Given the description of an element on the screen output the (x, y) to click on. 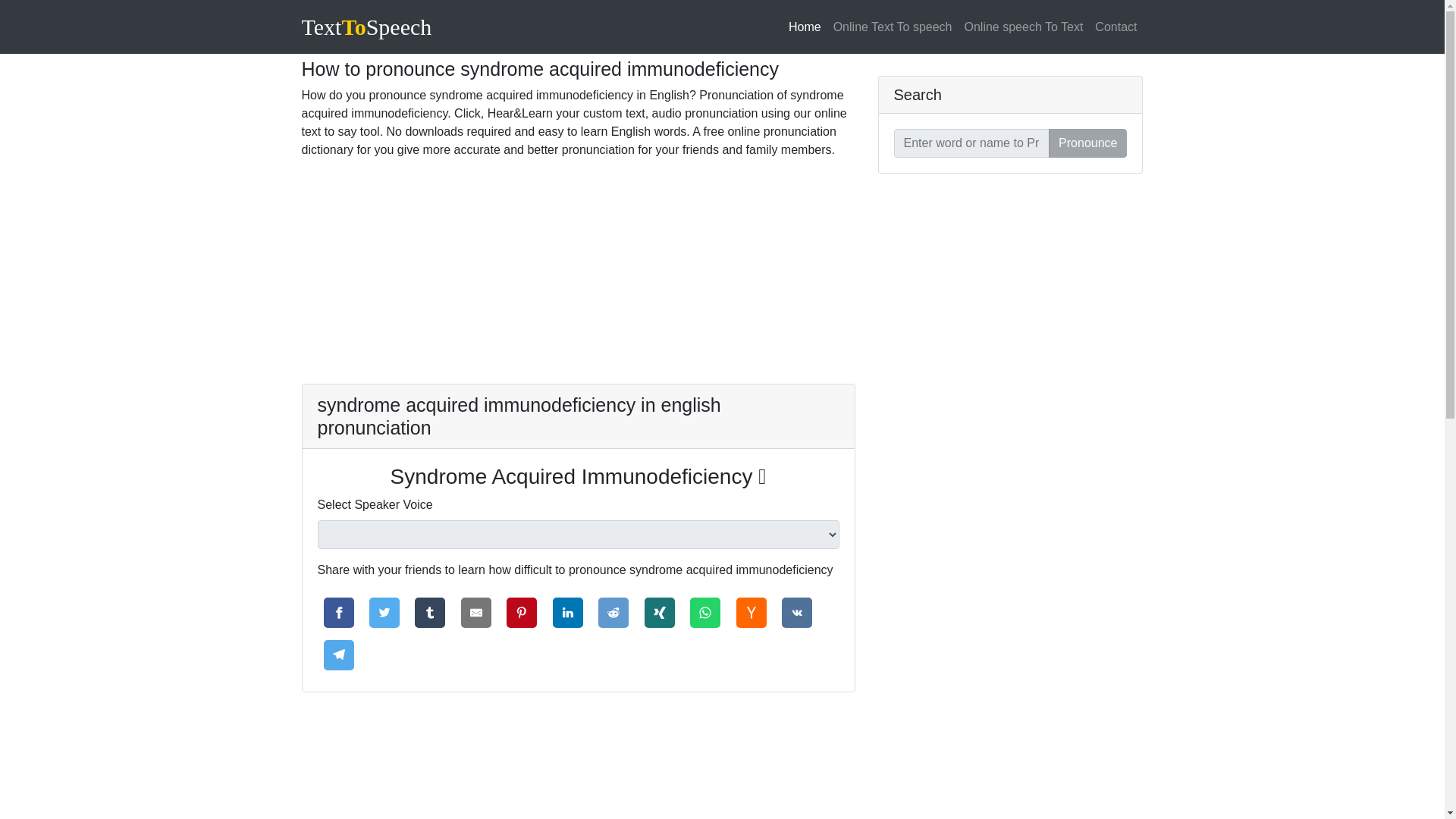
TextToSpeech (366, 26)
Advertisement (578, 277)
Online speech To Text (1023, 27)
Advertisement (578, 764)
Contact (1115, 27)
Online Text To speech (892, 27)
Hear Syndrome Acquired Immunodeficiency Pronunciation (578, 476)
